Given the description of an element on the screen output the (x, y) to click on. 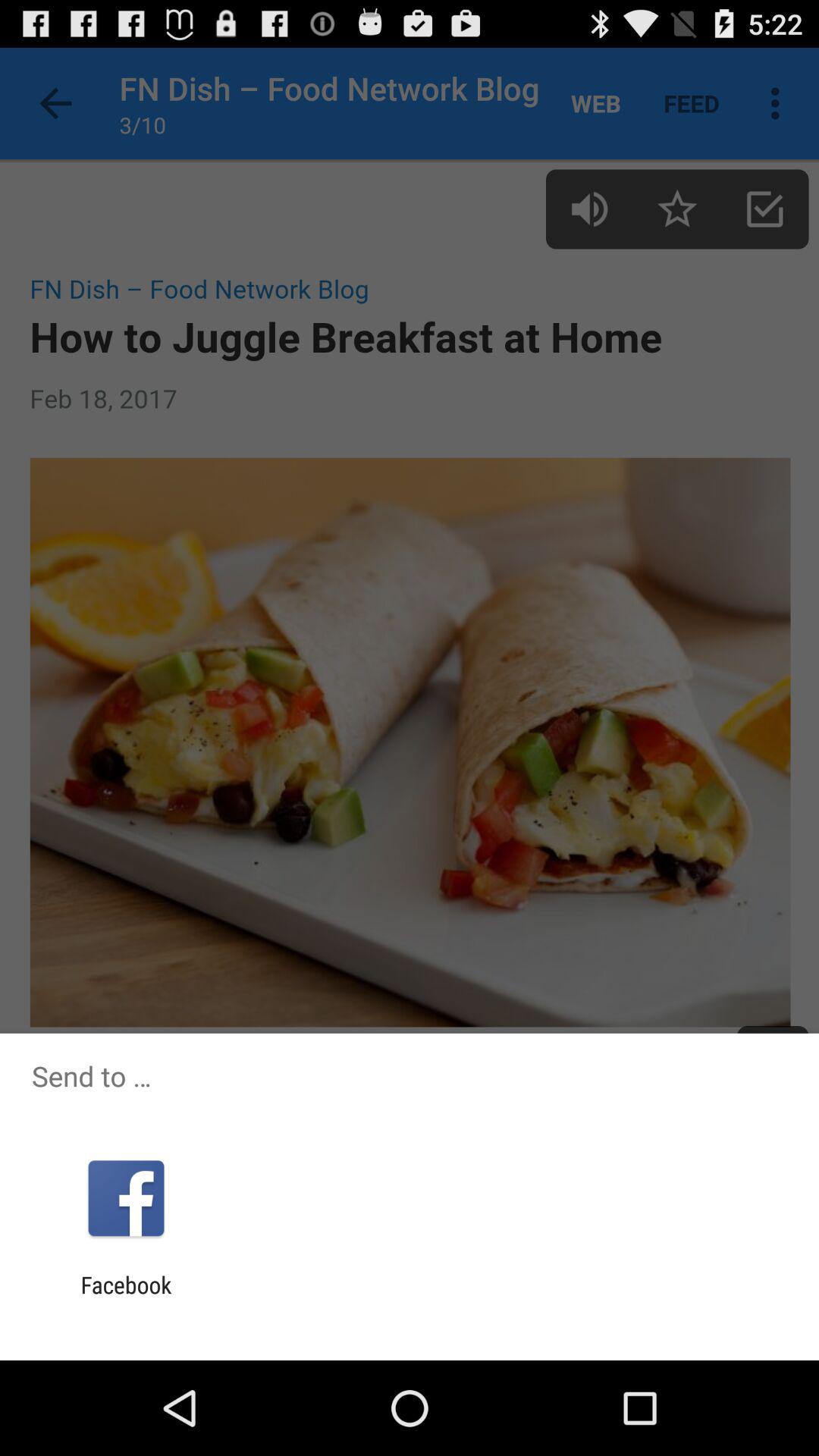
flip until the facebook app (125, 1298)
